Given the description of an element on the screen output the (x, y) to click on. 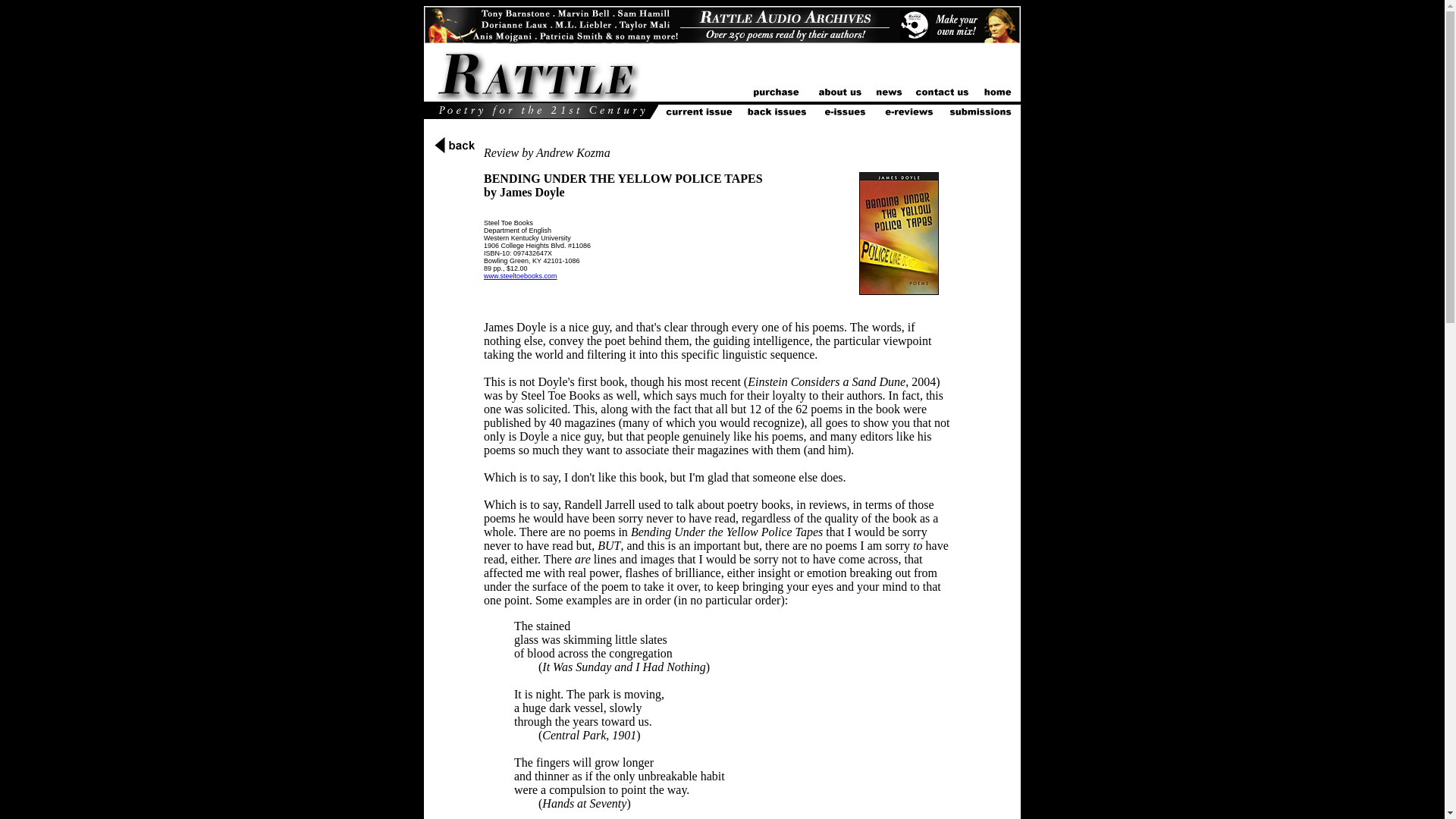
www.steeltoebooks.com (520, 275)
